Given the description of an element on the screen output the (x, y) to click on. 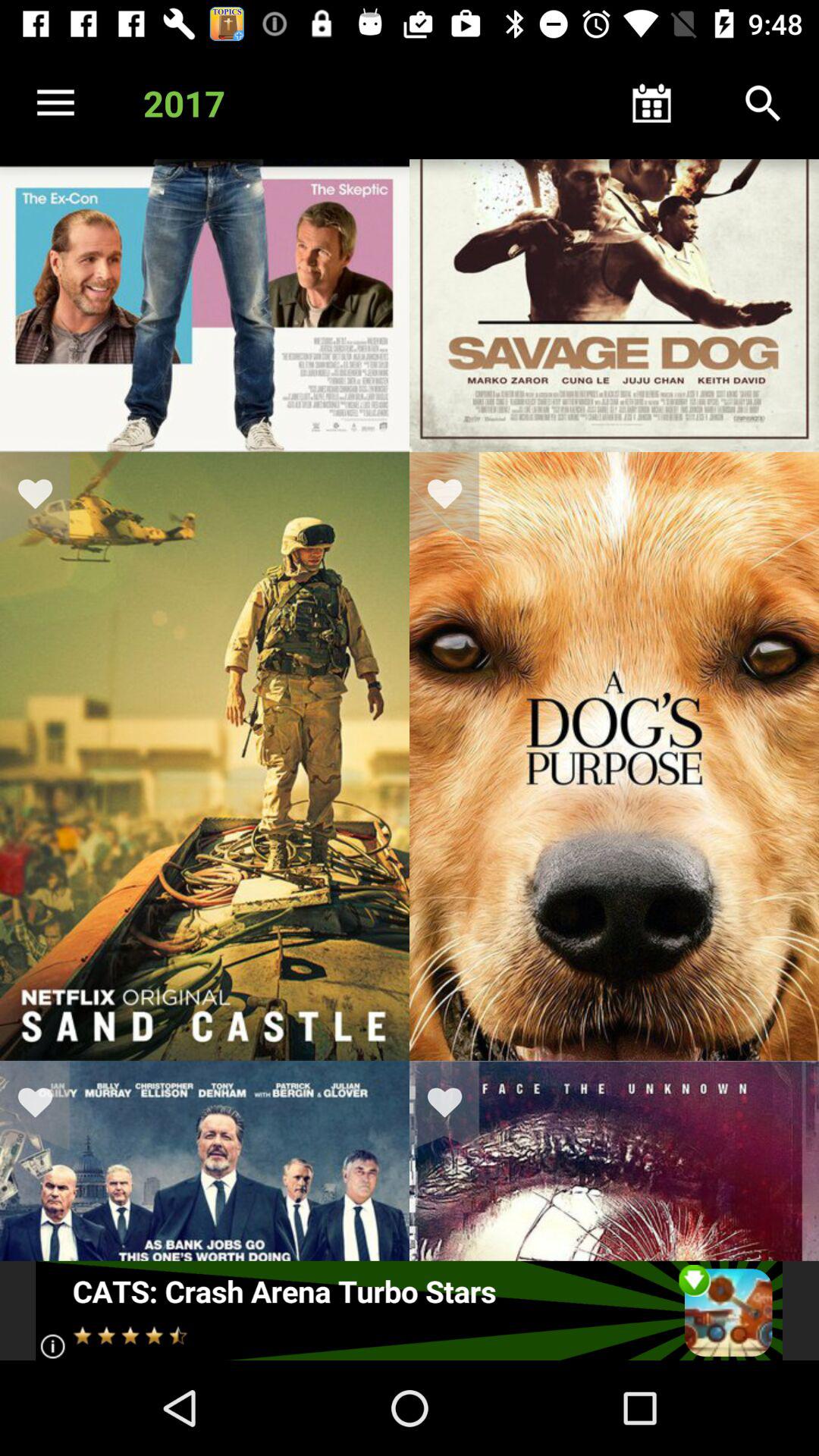
favorite movie (454, 1105)
